Given the description of an element on the screen output the (x, y) to click on. 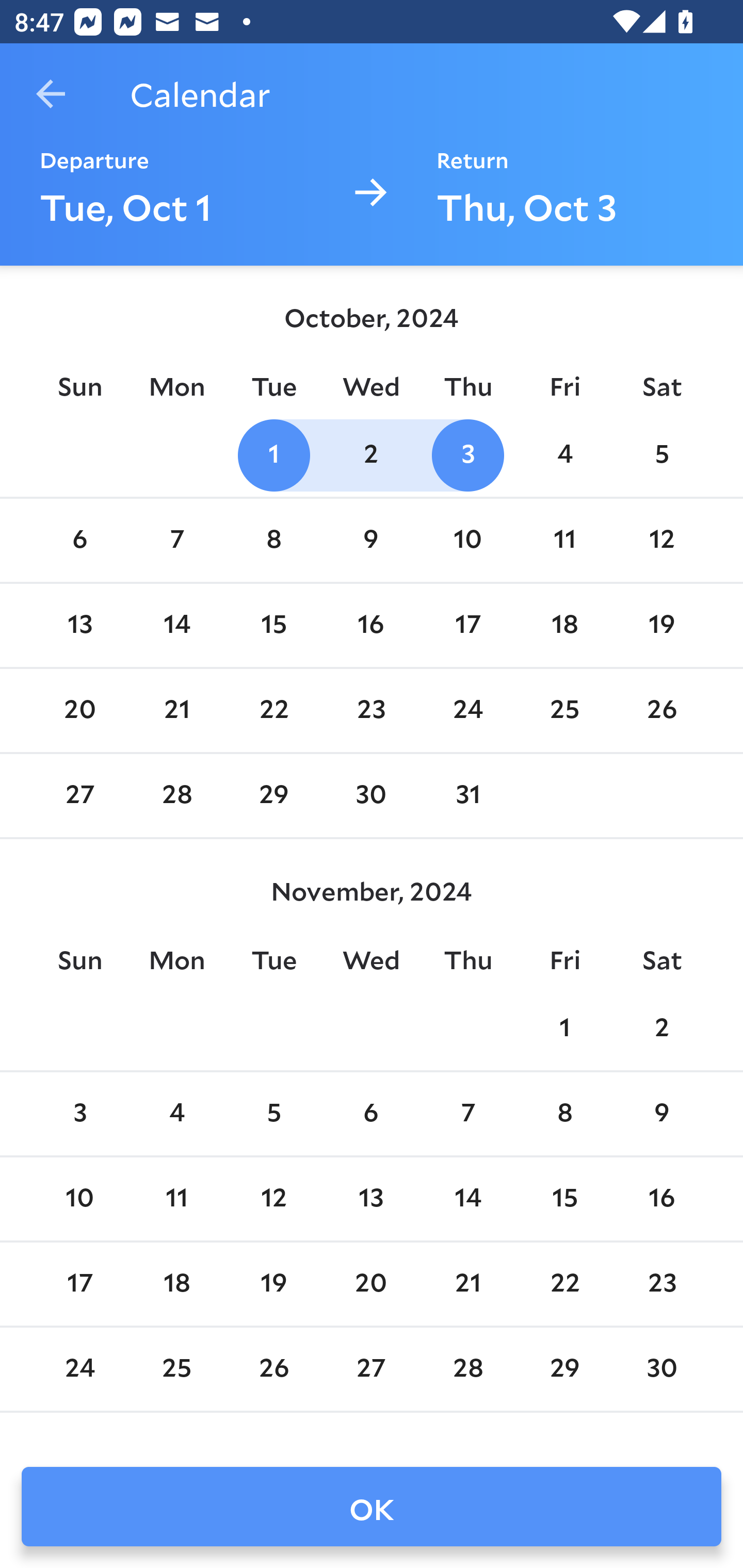
Navigate up (50, 93)
1 (273, 454)
2 (371, 454)
3 (467, 454)
4 (565, 454)
5 (661, 454)
6 (79, 540)
7 (177, 540)
8 (273, 540)
9 (371, 540)
10 (467, 540)
11 (565, 540)
12 (661, 540)
13 (79, 625)
14 (177, 625)
15 (273, 625)
16 (371, 625)
17 (467, 625)
18 (565, 625)
19 (661, 625)
20 (79, 710)
21 (177, 710)
22 (273, 710)
23 (371, 710)
24 (467, 710)
25 (565, 710)
26 (661, 710)
27 (79, 796)
28 (177, 796)
29 (273, 796)
30 (371, 796)
31 (467, 796)
1 (565, 1028)
2 (661, 1028)
3 (79, 1114)
4 (177, 1114)
5 (273, 1114)
6 (371, 1114)
7 (467, 1114)
8 (565, 1114)
9 (661, 1114)
10 (79, 1199)
11 (177, 1199)
12 (273, 1199)
13 (371, 1199)
14 (467, 1199)
15 (565, 1199)
16 (661, 1199)
17 (79, 1284)
18 (177, 1284)
19 (273, 1284)
20 (371, 1284)
21 (467, 1284)
22 (565, 1284)
23 (661, 1284)
24 (79, 1368)
25 (177, 1368)
26 (273, 1368)
27 (371, 1368)
28 (467, 1368)
29 (565, 1368)
30 (661, 1368)
OK (371, 1506)
